Given the description of an element on the screen output the (x, y) to click on. 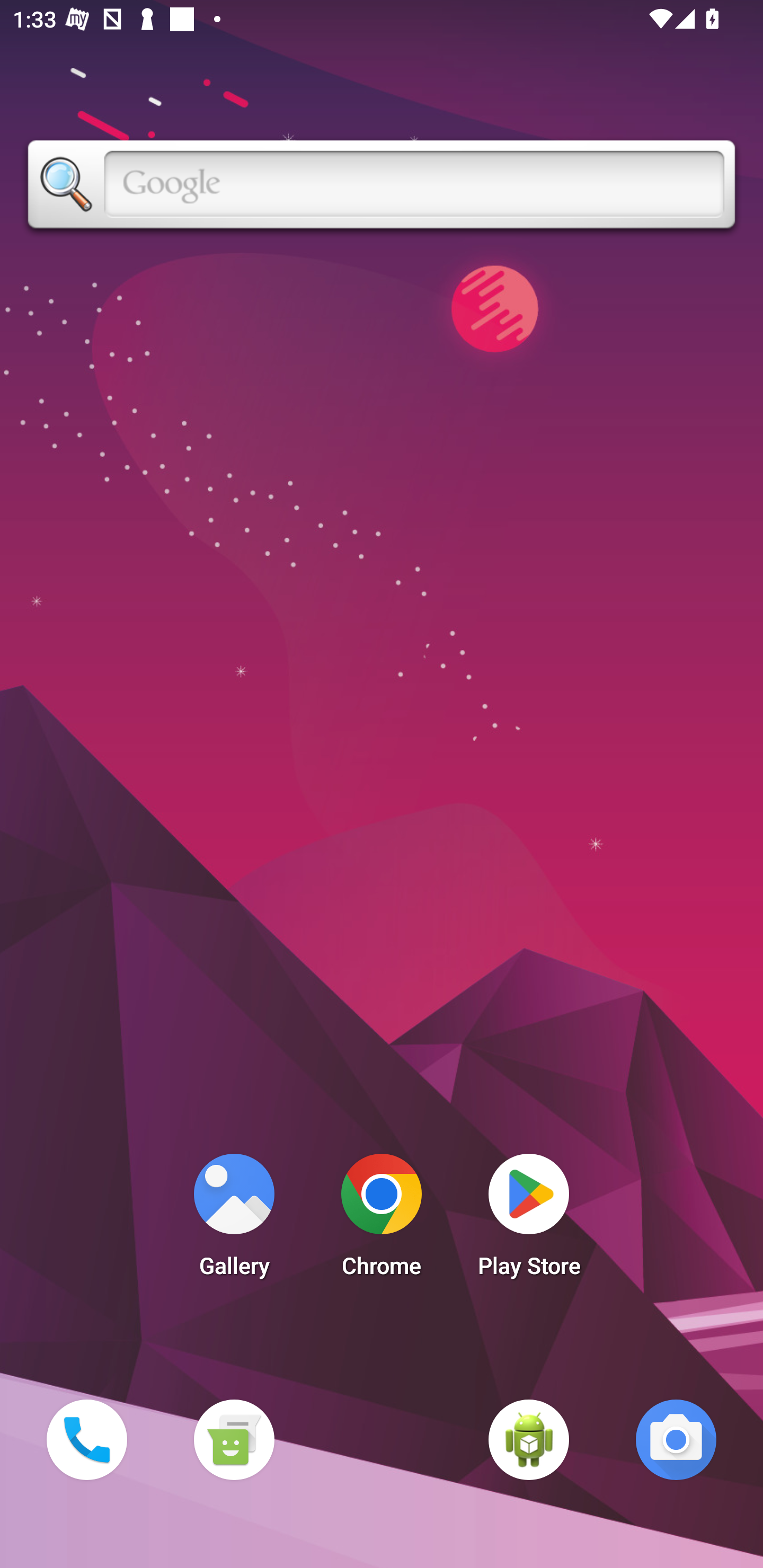
Gallery (233, 1220)
Chrome (381, 1220)
Play Store (528, 1220)
Phone (86, 1439)
Messaging (233, 1439)
WebView Browser Tester (528, 1439)
Camera (676, 1439)
